Given the description of an element on the screen output the (x, y) to click on. 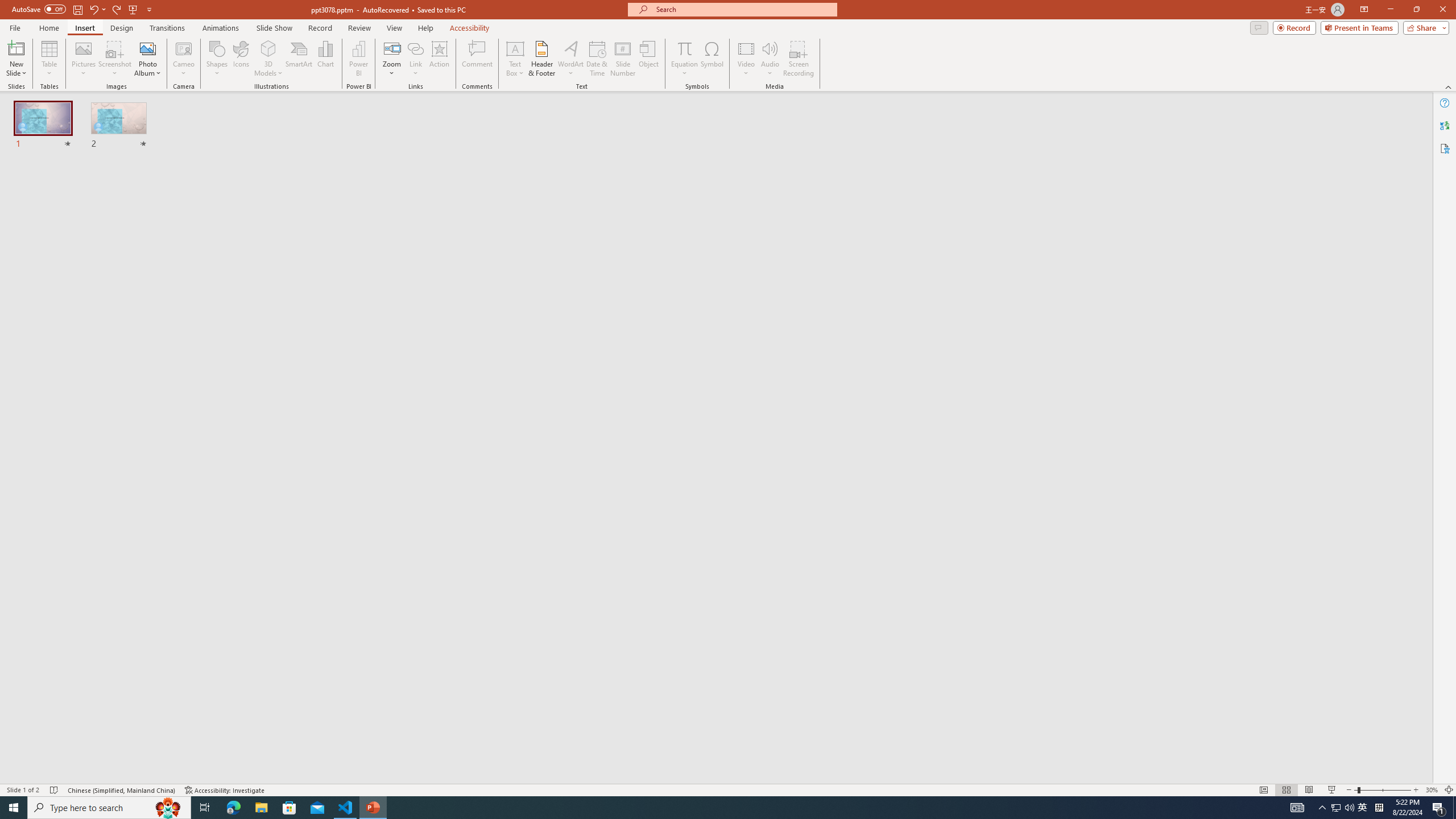
Shapes (216, 58)
Quick Access Toolbar (82, 9)
Symbol... (711, 58)
Design (122, 28)
Slide (118, 125)
Zoom 30% (1431, 790)
WordArt (570, 58)
